Given the description of an element on the screen output the (x, y) to click on. 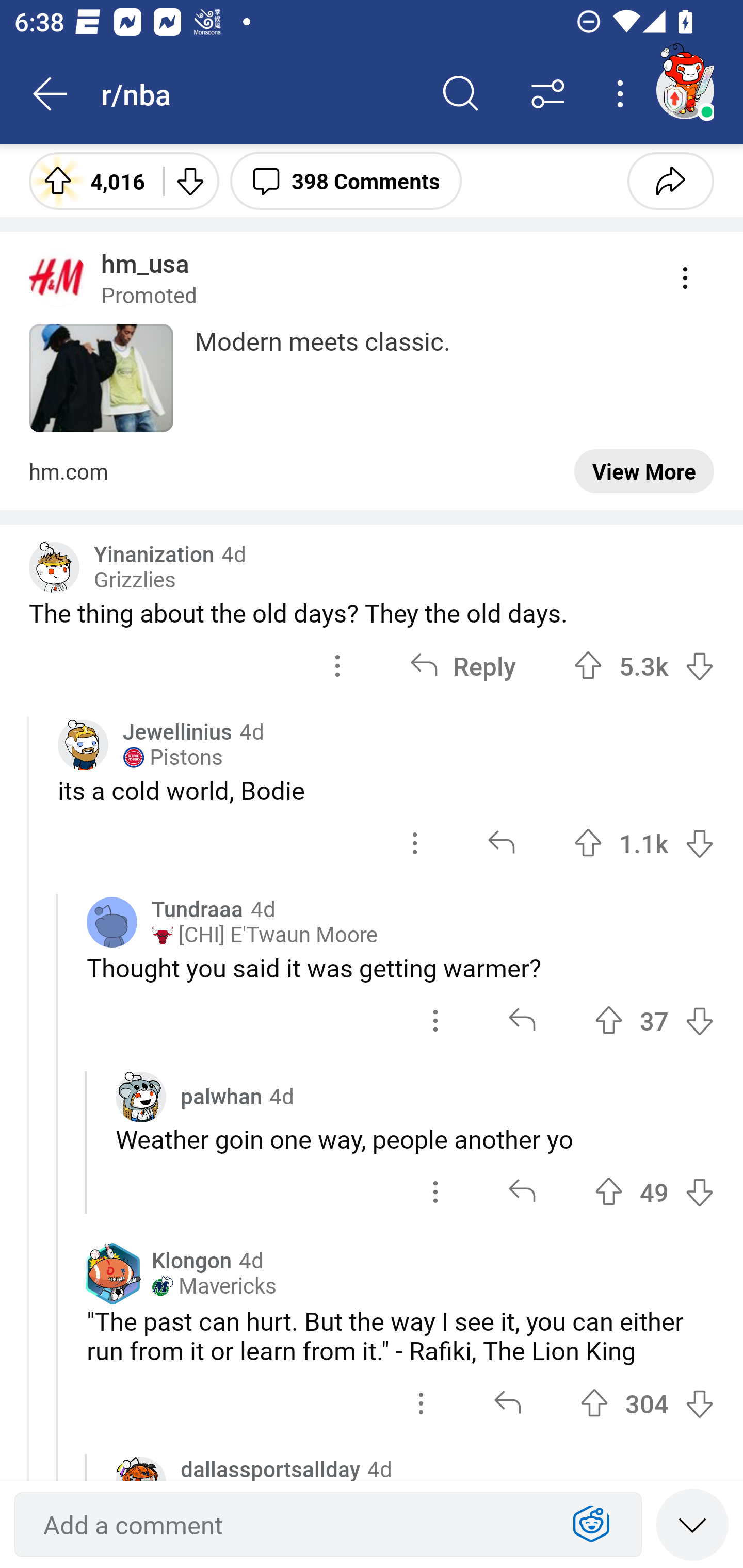
Back (50, 93)
TestAppium002 account (685, 90)
Search comments (460, 93)
Sort comments (547, 93)
More options (623, 93)
r/nba (259, 92)
Upvote 4,016 (88, 180)
Downvote (189, 180)
398 Comments (346, 180)
Share (670, 180)
Ad from hm_usa, Promoted, Modern meets classic. (371, 370)
Custom avatar (53, 567)
Grizzlies (134, 579)
The thing about the old days? They the old days. (371, 612)
options (337, 666)
Reply (462, 666)
Upvote 5.3k 5280 votes Downvote (643, 666)
Custom avatar (82, 744)
￼ Pistons (172, 756)
its a cold world, Bodie (385, 790)
options (414, 843)
Upvote 1.1k 1085 votes Downvote (643, 843)
Avatar (111, 921)
￼ [CHI] E'Twaun Moore (264, 934)
Thought you said it was getting warmer? (400, 967)
options (435, 1020)
Upvote 37 37 votes Downvote (654, 1020)
Custom avatar (140, 1096)
Weather goin one way, people another yo (414, 1138)
options (435, 1191)
Upvote 49 49 votes Downvote (654, 1191)
￼ Mavericks (214, 1285)
options (420, 1403)
Upvote 304 304 votes Downvote (647, 1403)
Speed read (692, 1524)
Add a comment (291, 1524)
Show Expressions (590, 1524)
